Given the description of an element on the screen output the (x, y) to click on. 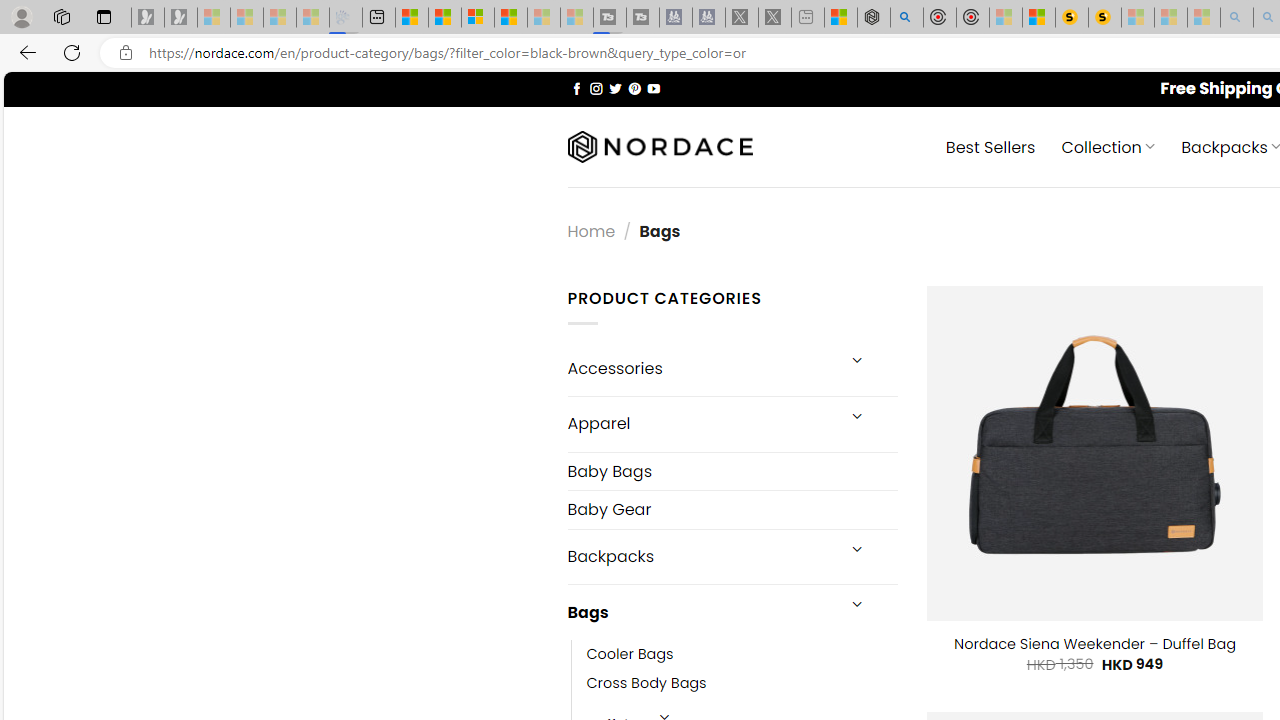
Home (591, 230)
Wildlife - MSN (841, 17)
X - Sleeping (775, 17)
poe - Search (906, 17)
Overview (478, 17)
Microsoft Start - Sleeping (543, 17)
Cooler Bags (630, 655)
Accessories (700, 368)
Nordace - Summer Adventures 2024 (873, 17)
Baby Bags (732, 470)
